Given the description of an element on the screen output the (x, y) to click on. 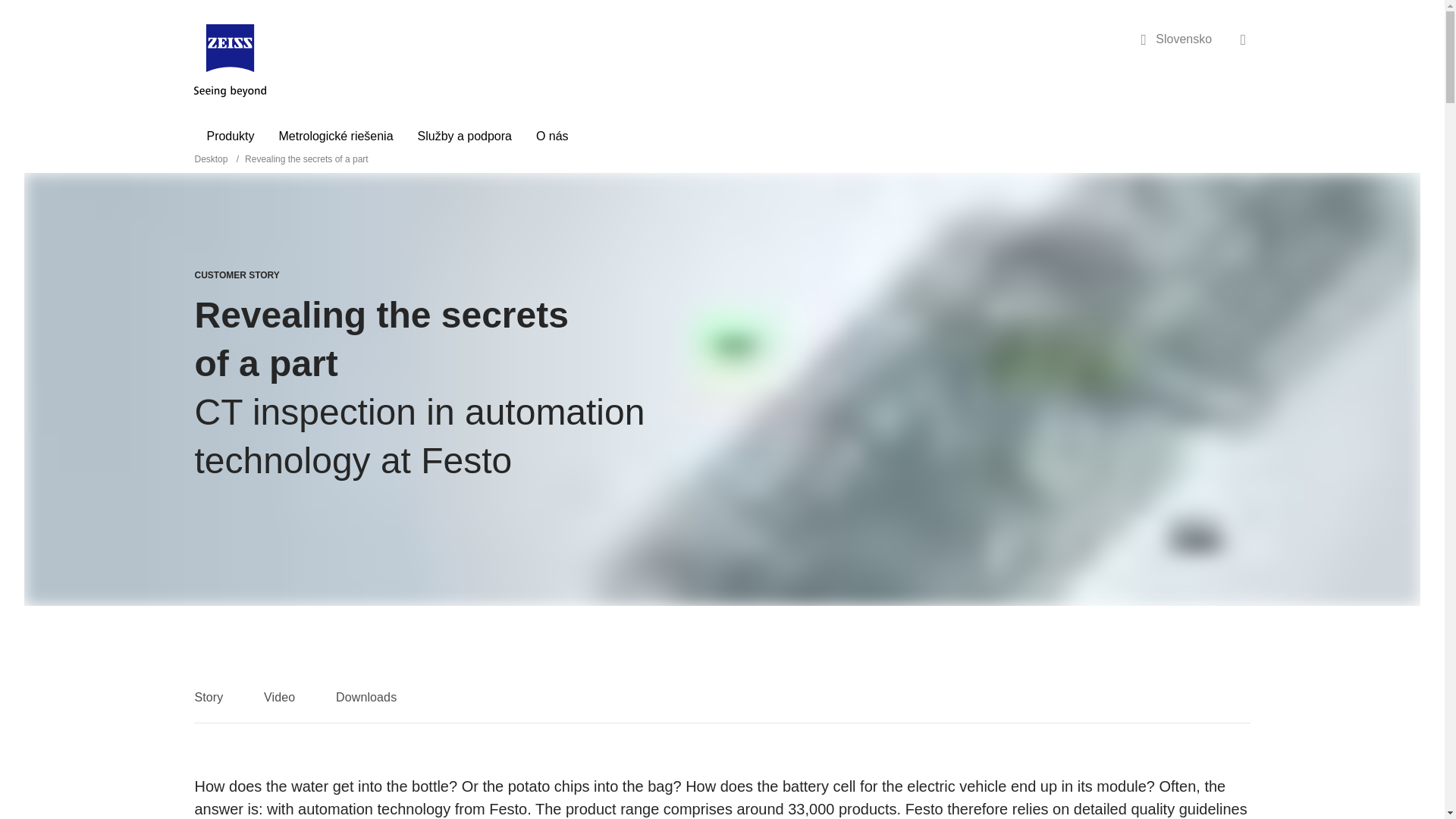
Revealing the secrets of a part (306, 158)
Desktop (211, 158)
Produkty (229, 136)
Desktop (211, 158)
Downloads (366, 705)
Revealing the secrets of a part (306, 158)
Slovensko (1176, 38)
Video (279, 705)
